Given the description of an element on the screen output the (x, y) to click on. 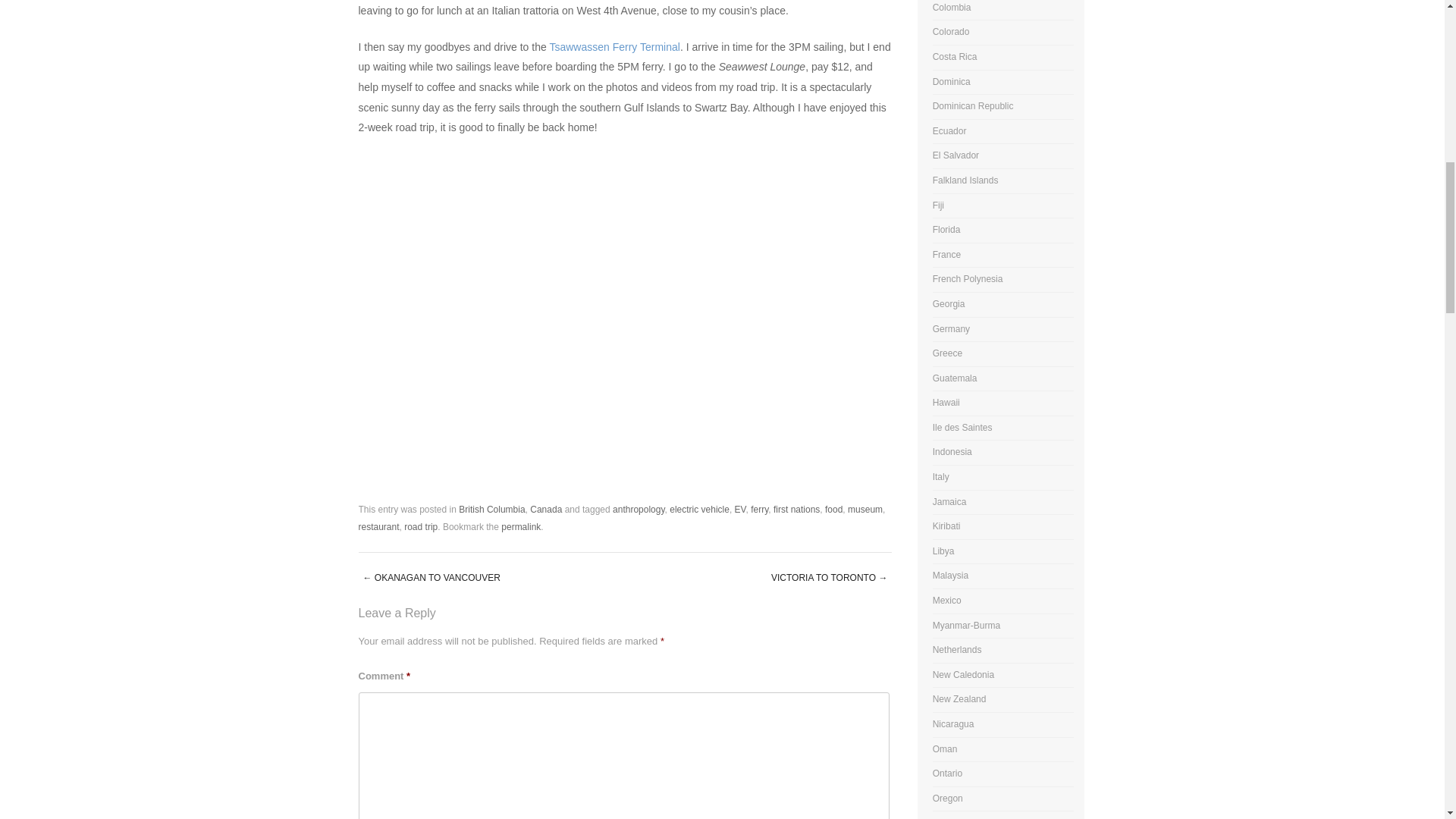
Permalink to Vancouver to Victoria (520, 526)
